Given the description of an element on the screen output the (x, y) to click on. 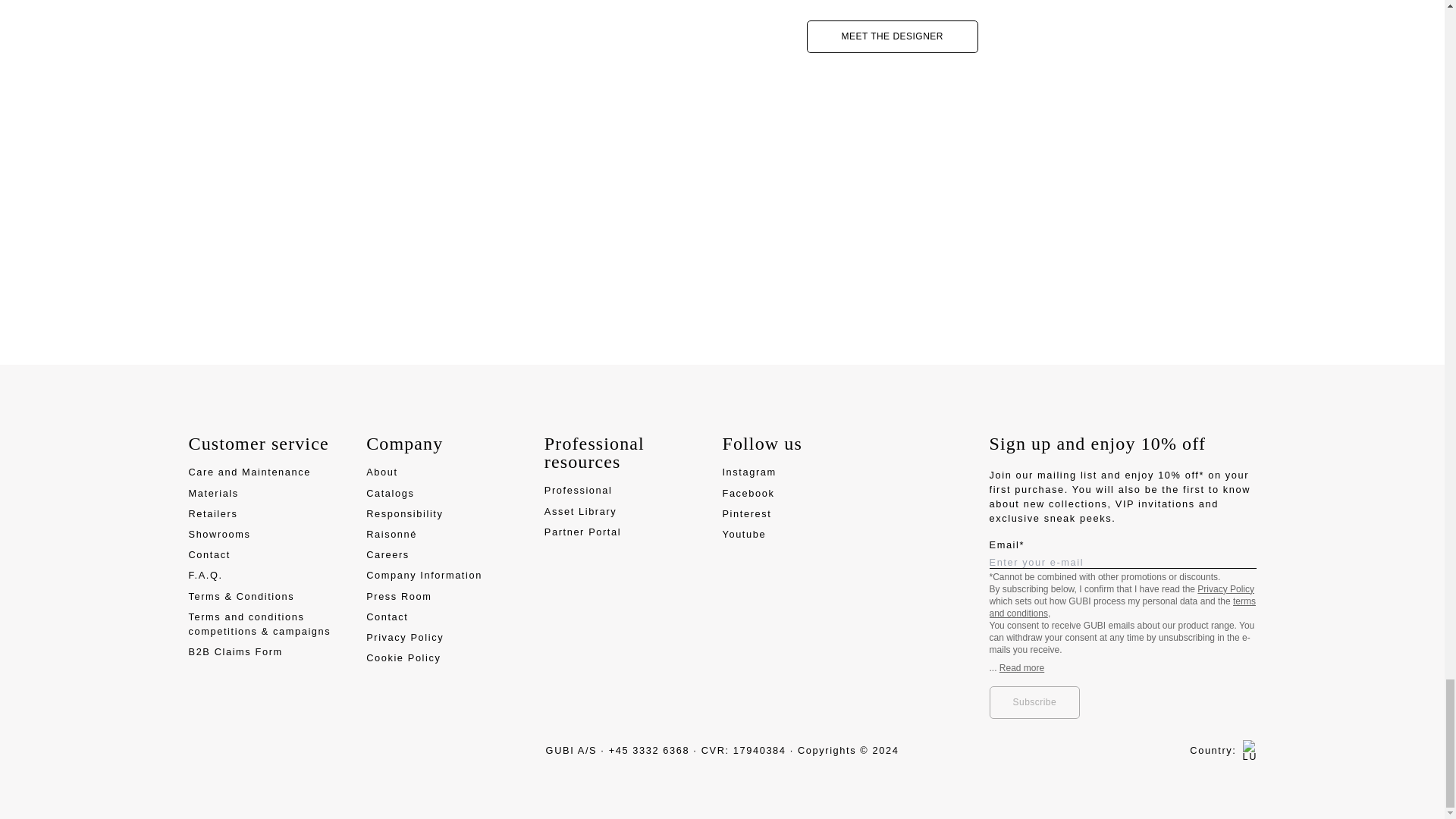
Luxembourg (1245, 751)
select country (1222, 751)
